Given the description of an element on the screen output the (x, y) to click on. 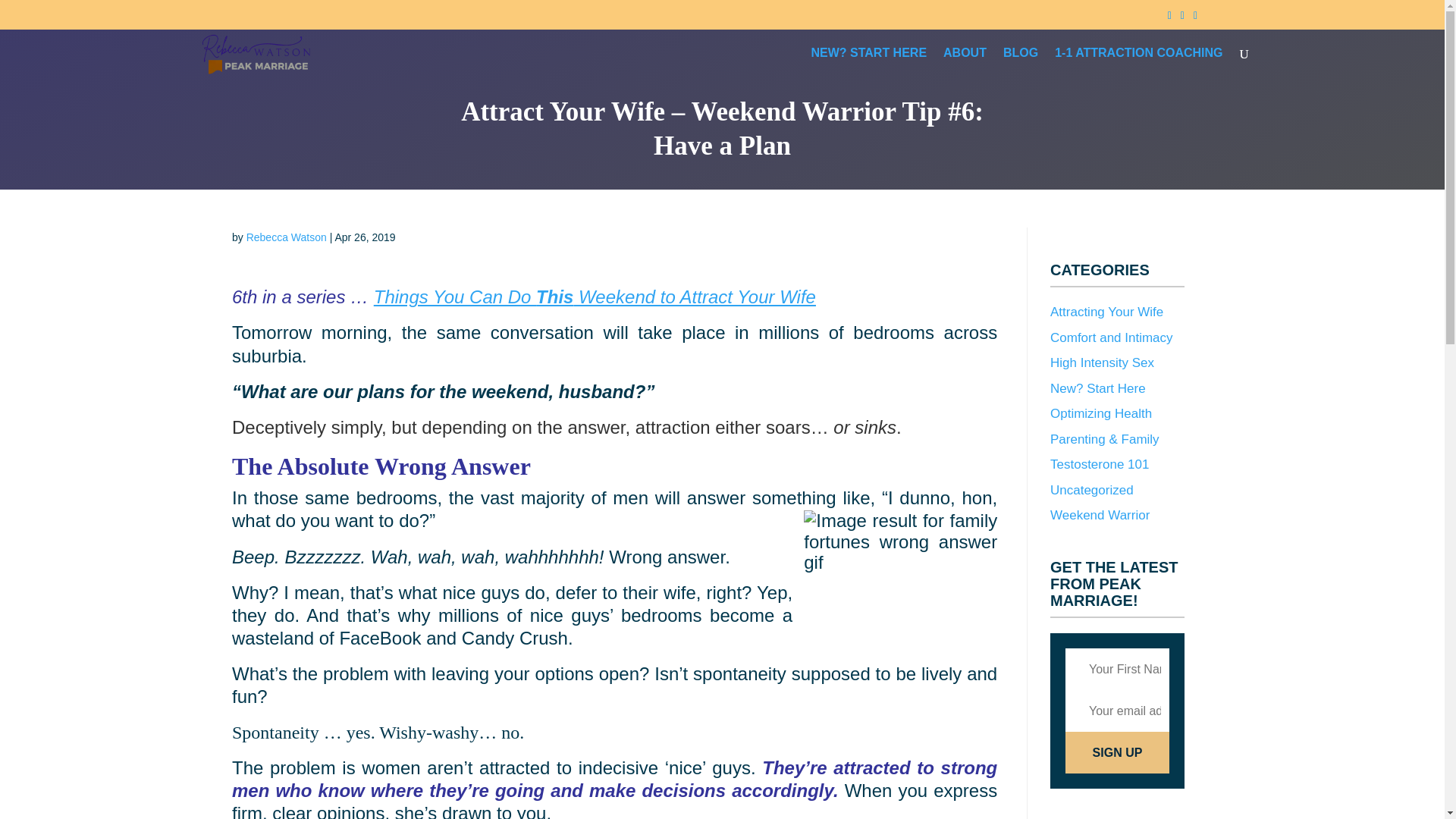
New? Start Here (1097, 387)
High Intensity Sex (1101, 362)
Things You Can Do This Weekend to Attract Your Wife (594, 296)
Testosterone 101 (1098, 464)
Sign up (1117, 752)
NEW? START HERE (868, 65)
BLOG (1020, 65)
Uncategorized (1091, 489)
1-1 ATTRACTION COACHING (1138, 65)
Optimizing Health (1100, 413)
